Given the description of an element on the screen output the (x, y) to click on. 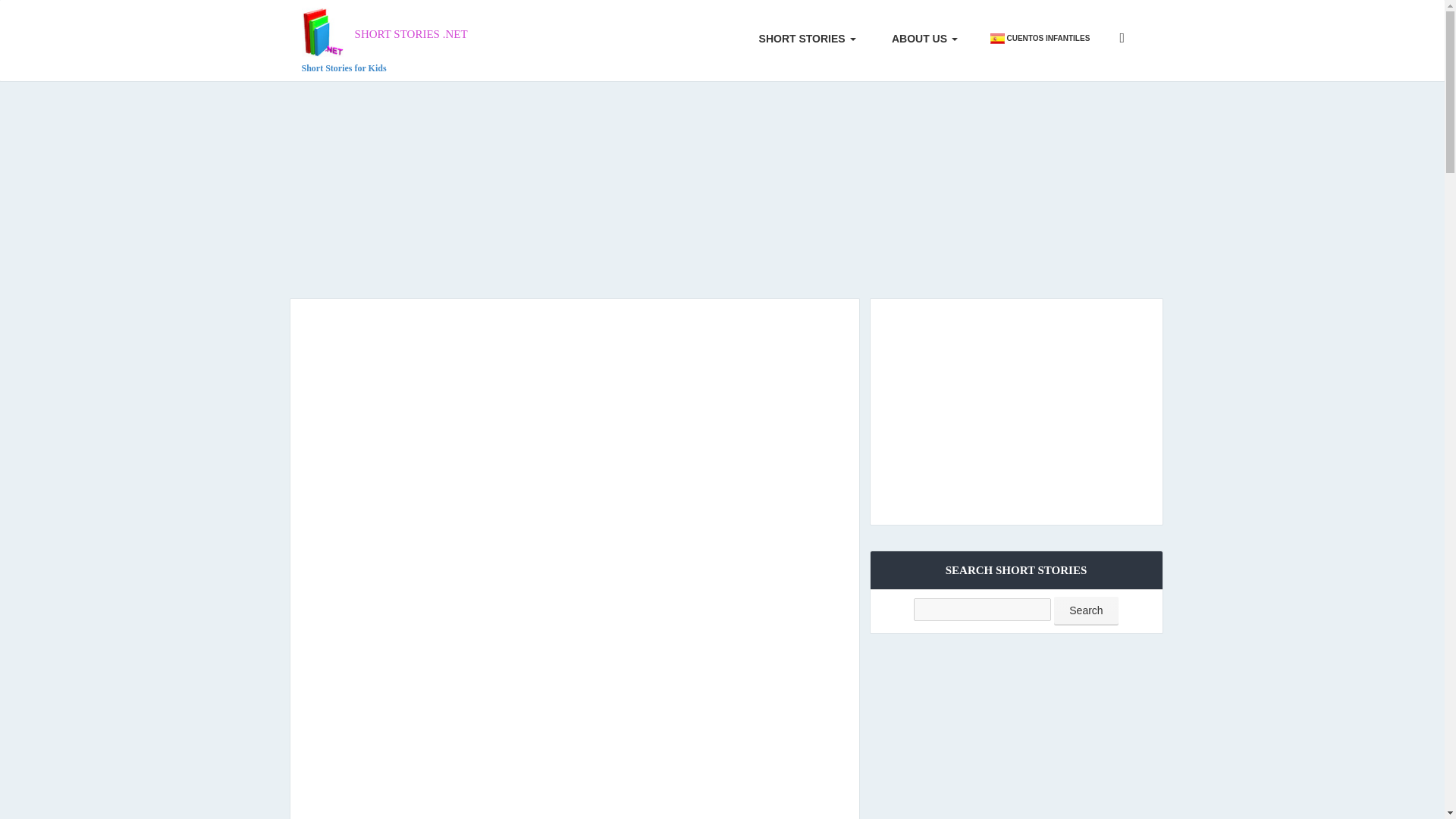
Search (384, 40)
 SHORT STORIES (1086, 611)
Short stories (800, 38)
About us (384, 40)
 ABOUT US (918, 38)
Search (918, 38)
Short Stories (1086, 611)
  CUENTOS INFANTILES (800, 38)
